Given the description of an element on the screen output the (x, y) to click on. 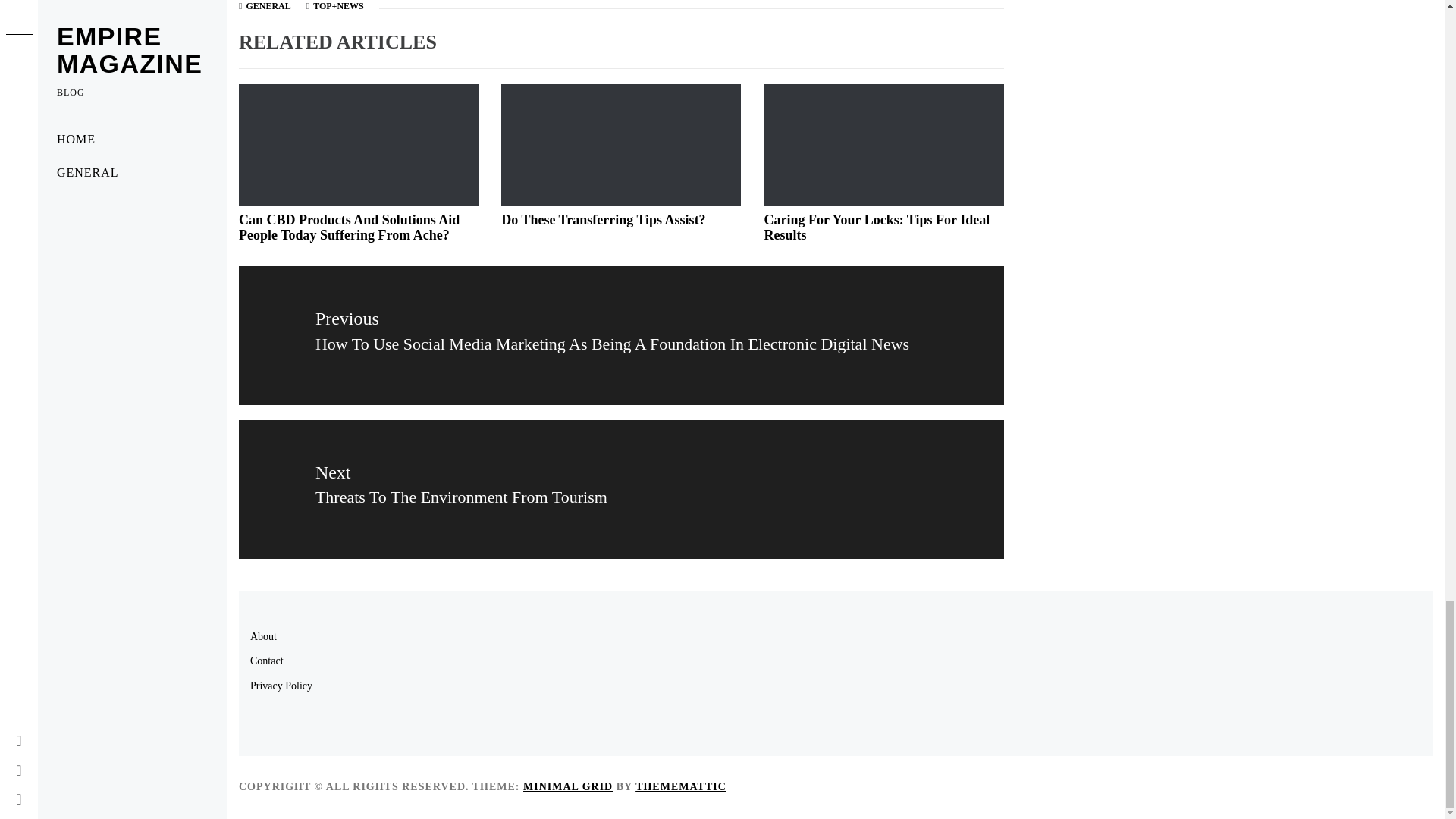
Do These Transferring Tips Assist? (602, 219)
GENERAL (621, 489)
Caring For Your Locks: Tips For Ideal Results (267, 5)
